Given the description of an element on the screen output the (x, y) to click on. 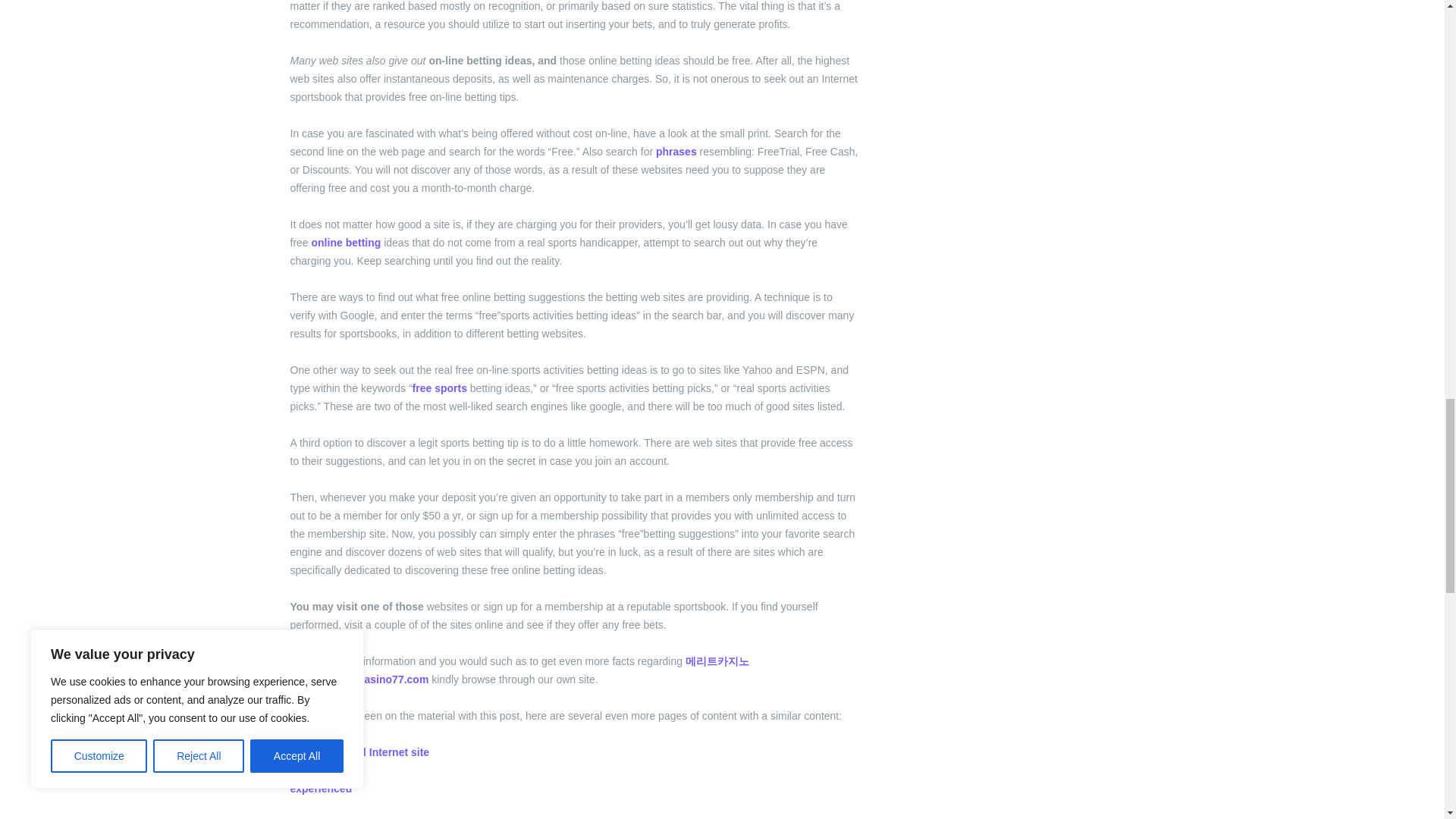
phrases (676, 151)
experienced (320, 788)
online betting (346, 242)
Recommended Internet site (359, 752)
free sports (439, 387)
